Given the description of an element on the screen output the (x, y) to click on. 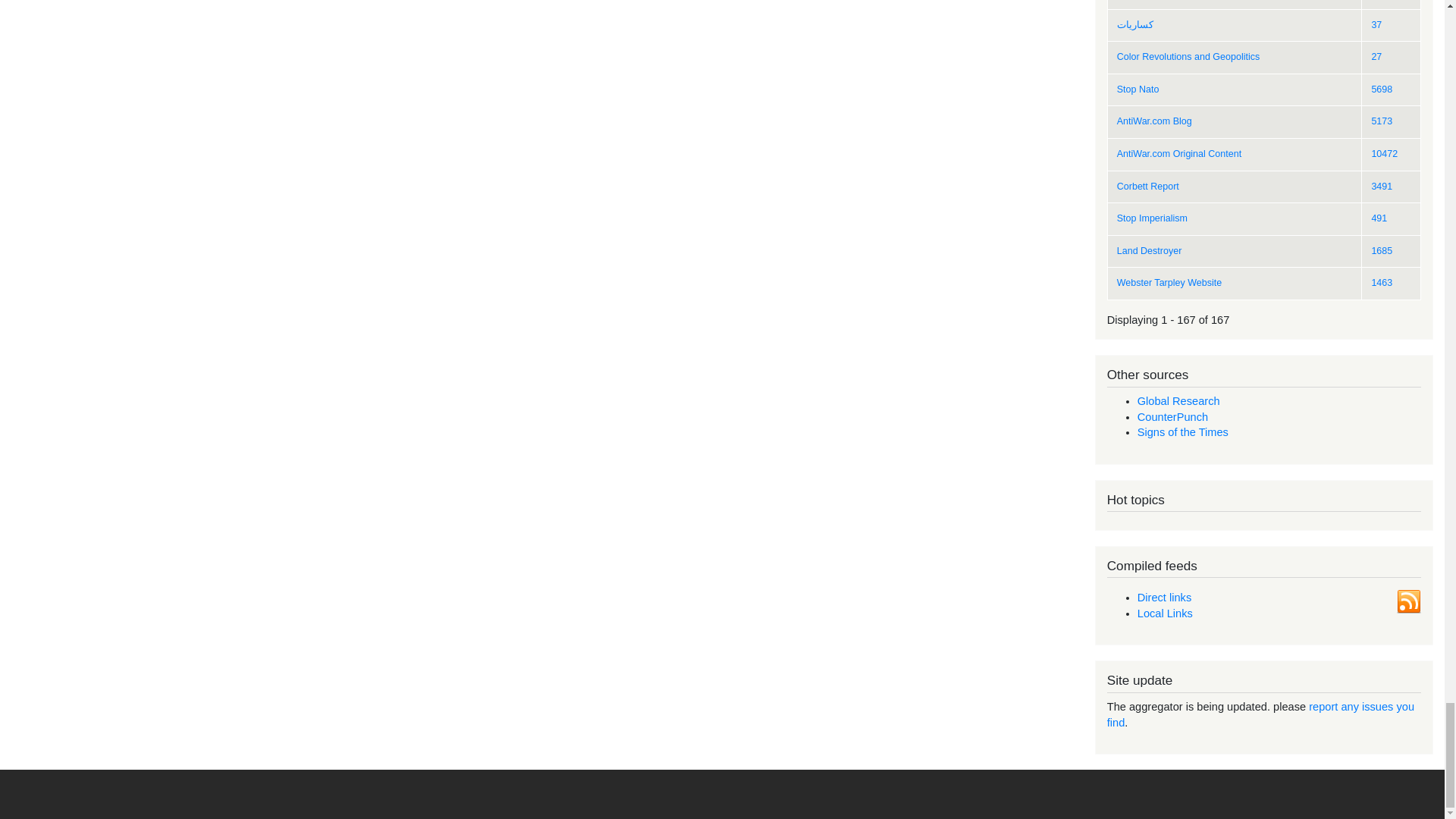
Compiled feed with links to cached pages (1164, 613)
Compiled feed with direct links to articles (1164, 597)
